Given the description of an element on the screen output the (x, y) to click on. 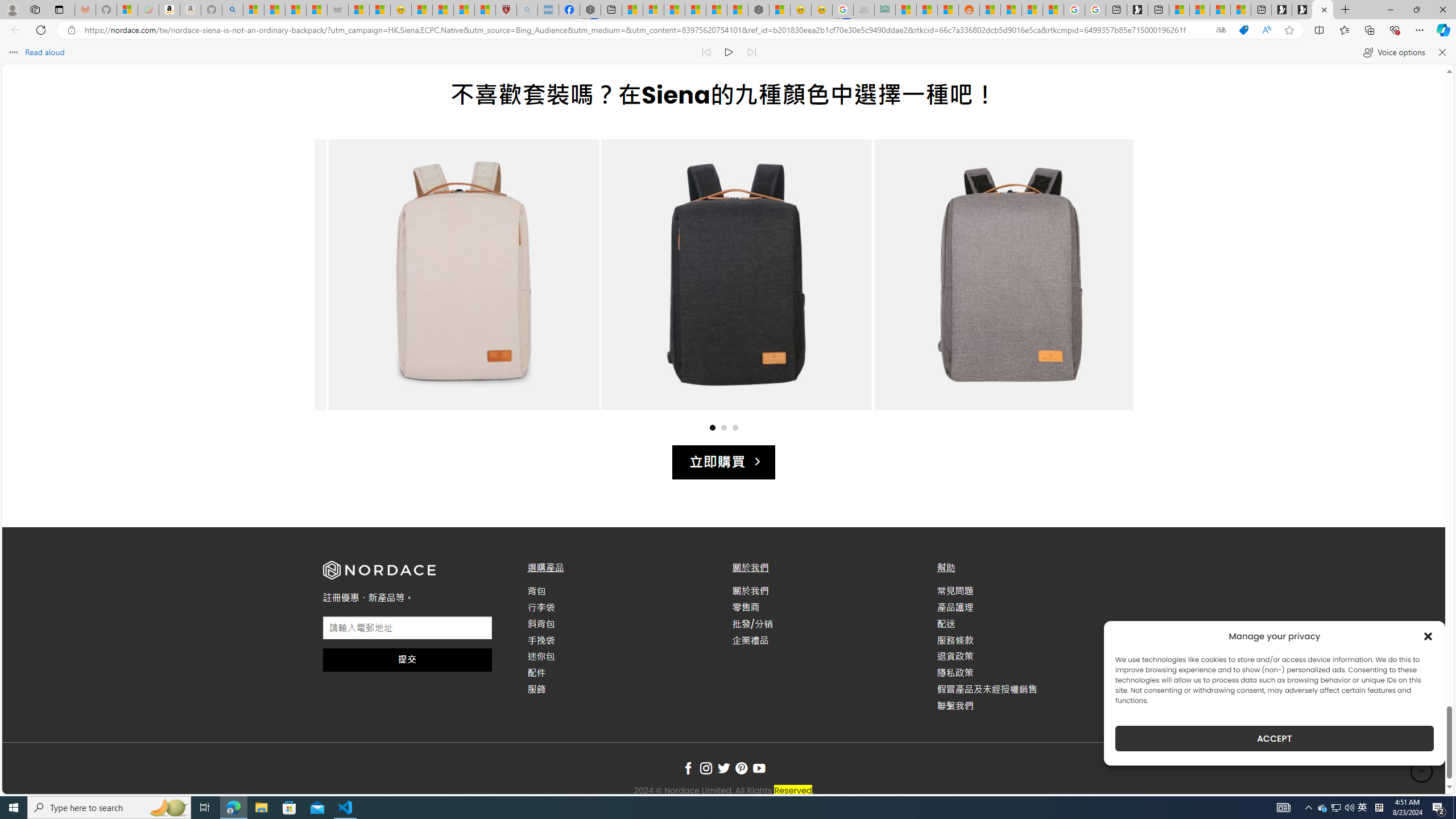
Follow on Twitter (723, 768)
MSN (948, 9)
Robert H. Shmerling, MD - Harvard Health (505, 9)
Follow on YouTube (758, 768)
Follow on Pinterest (740, 768)
Science - MSN (463, 9)
Voice options (1393, 52)
12 Popular Science Lies that Must be Corrected (485, 9)
